Given the description of an element on the screen output the (x, y) to click on. 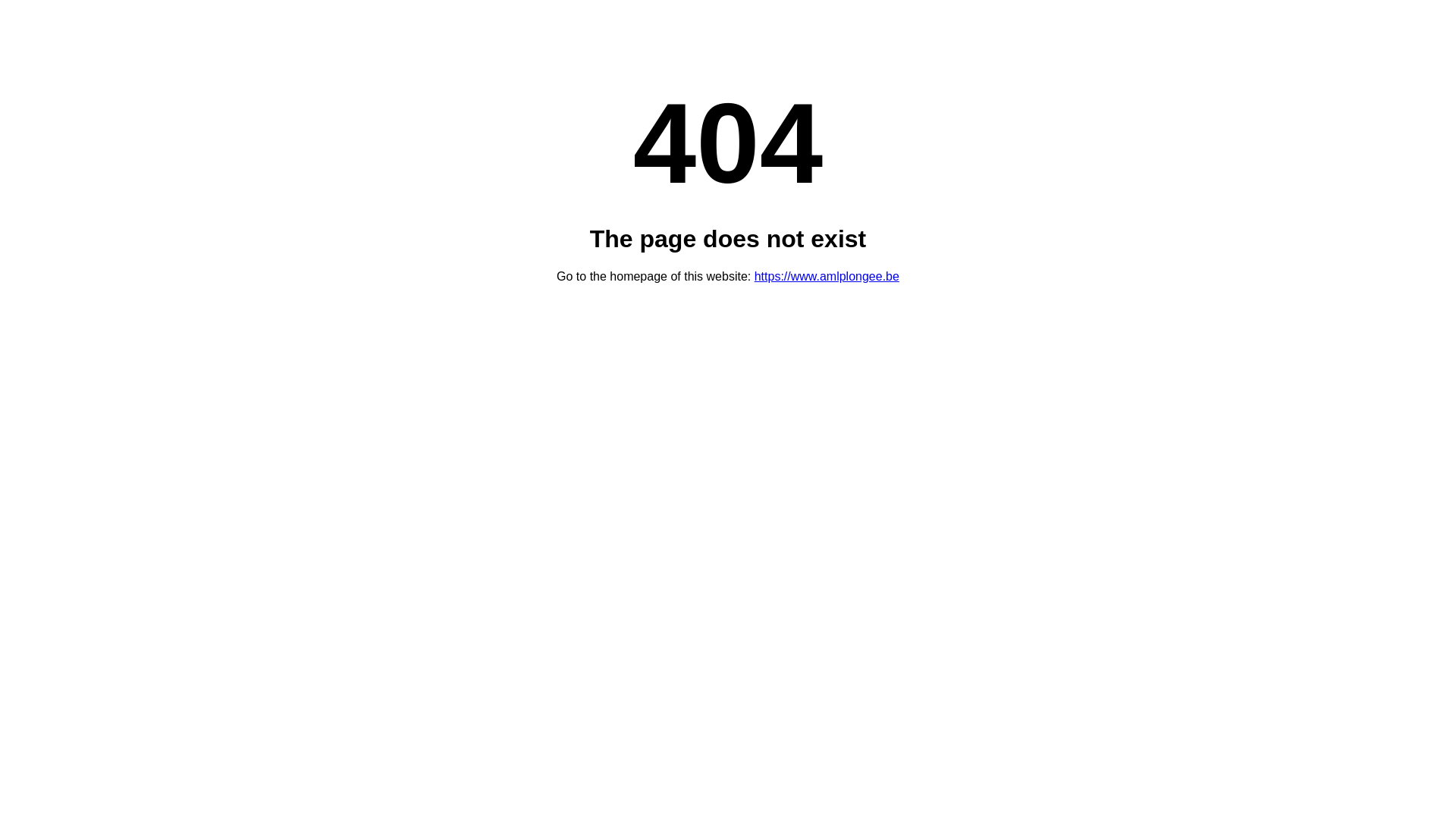
https://www.amlplongee.be Element type: text (826, 275)
